Given the description of an element on the screen output the (x, y) to click on. 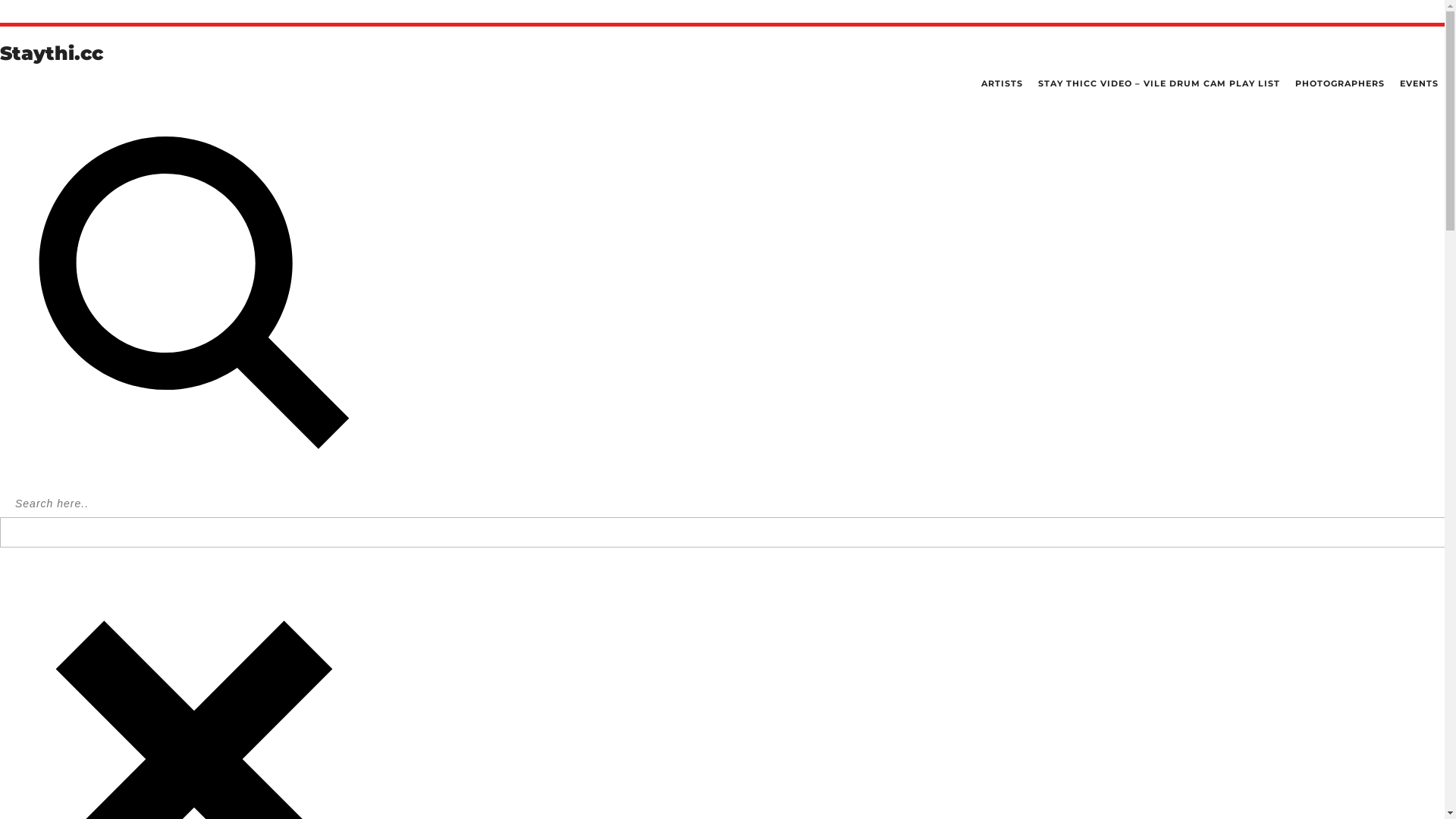
Start search Element type: text (1429, 571)
EVENTS Element type: text (1418, 83)
ARTISTS Element type: text (1002, 83)
Staythi.cc Element type: text (51, 52)
PHOTOGRAPHERS Element type: text (1339, 83)
